Given the description of an element on the screen output the (x, y) to click on. 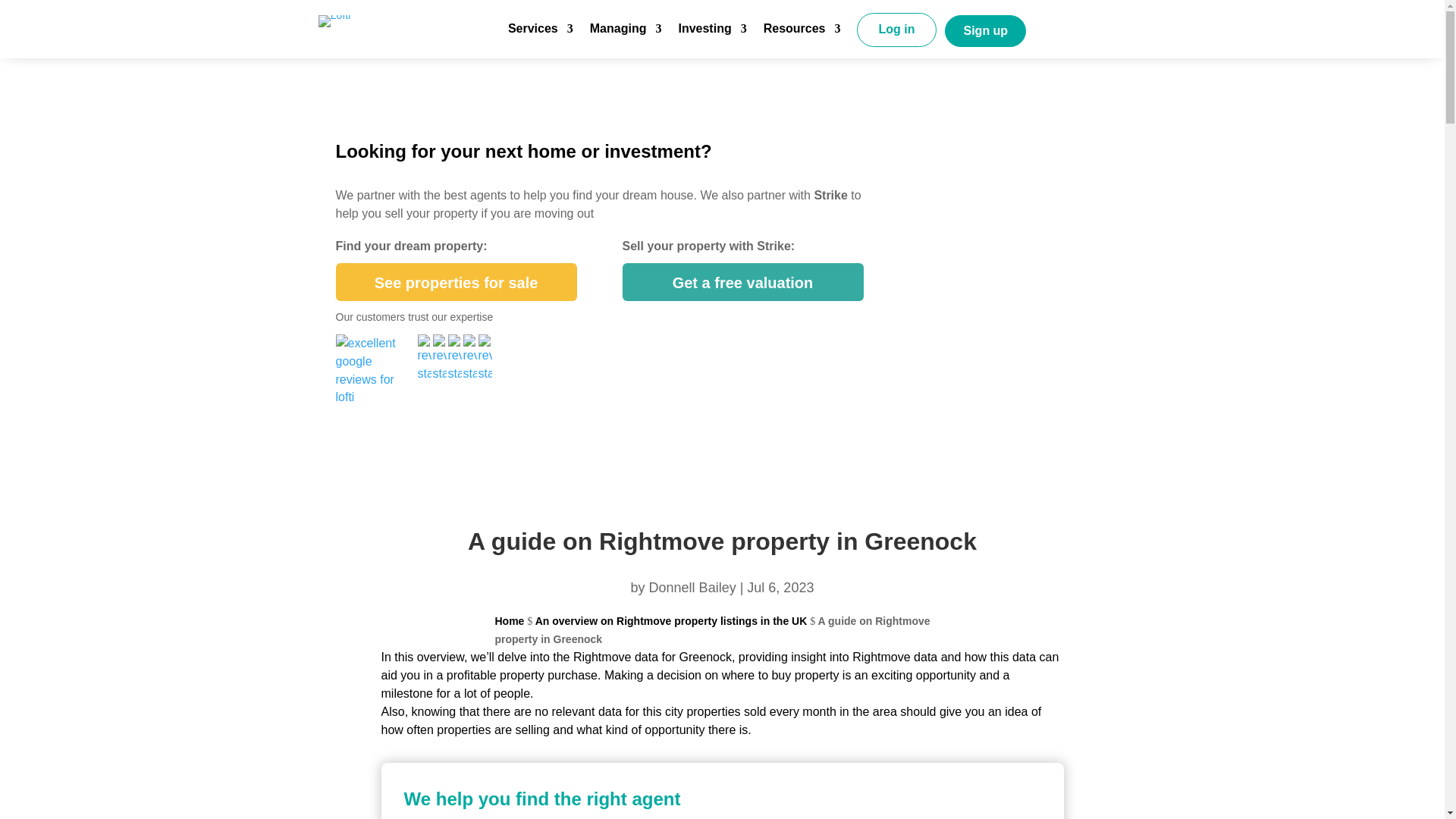
lofti (334, 21)
Investing (711, 34)
Managing (625, 34)
Resources (801, 34)
Posts by Donnell Bailey (692, 587)
Services (540, 34)
